Given the description of an element on the screen output the (x, y) to click on. 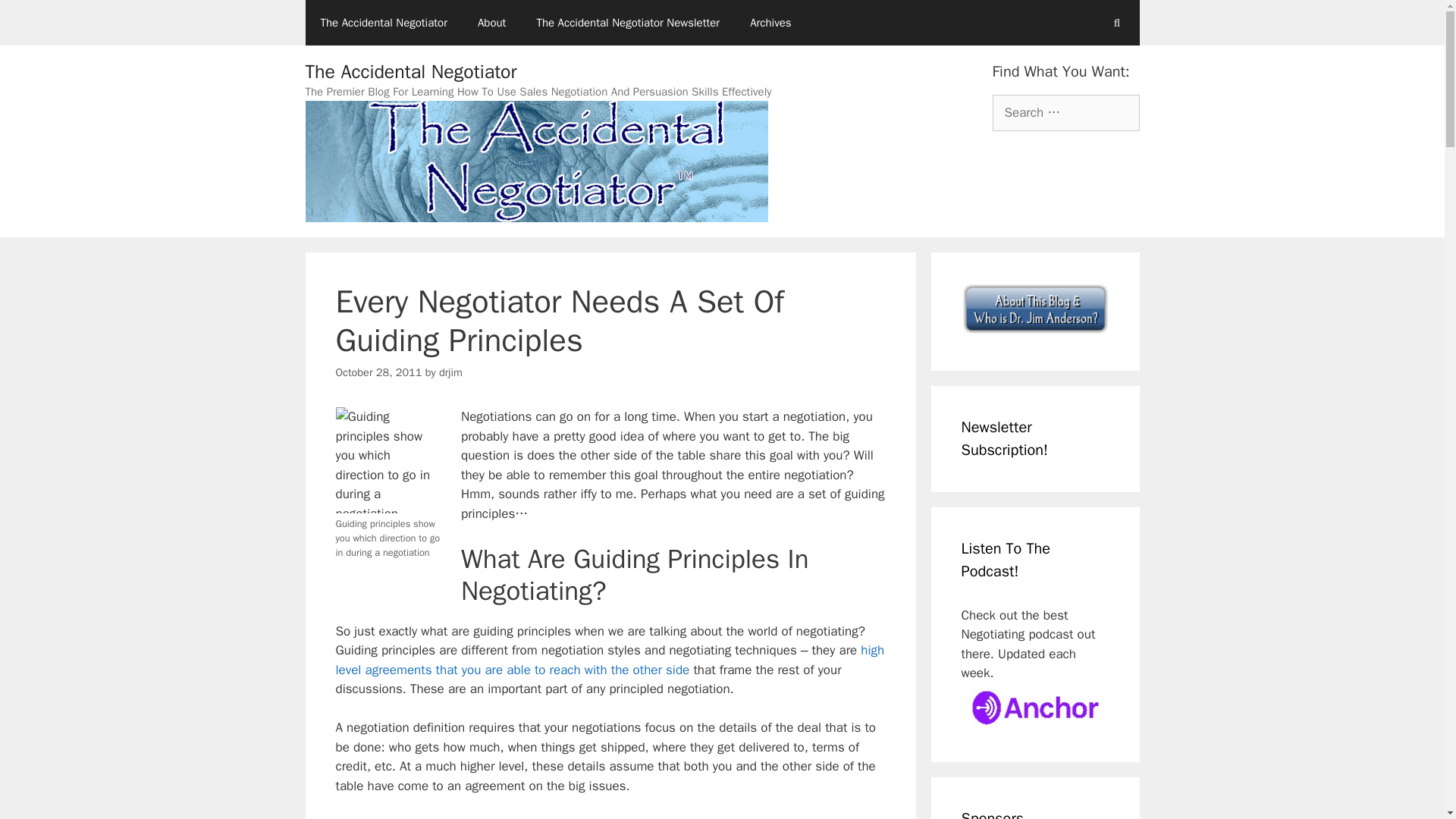
Archives (770, 22)
Search (35, 18)
The Accidental Negotiator (410, 71)
drjim (451, 372)
About (492, 22)
The Accidental Negotiator Newsletter (628, 22)
View all posts by drjim (451, 372)
Search for: (1064, 113)
The Accidental Negotiator (382, 22)
